Given the description of an element on the screen output the (x, y) to click on. 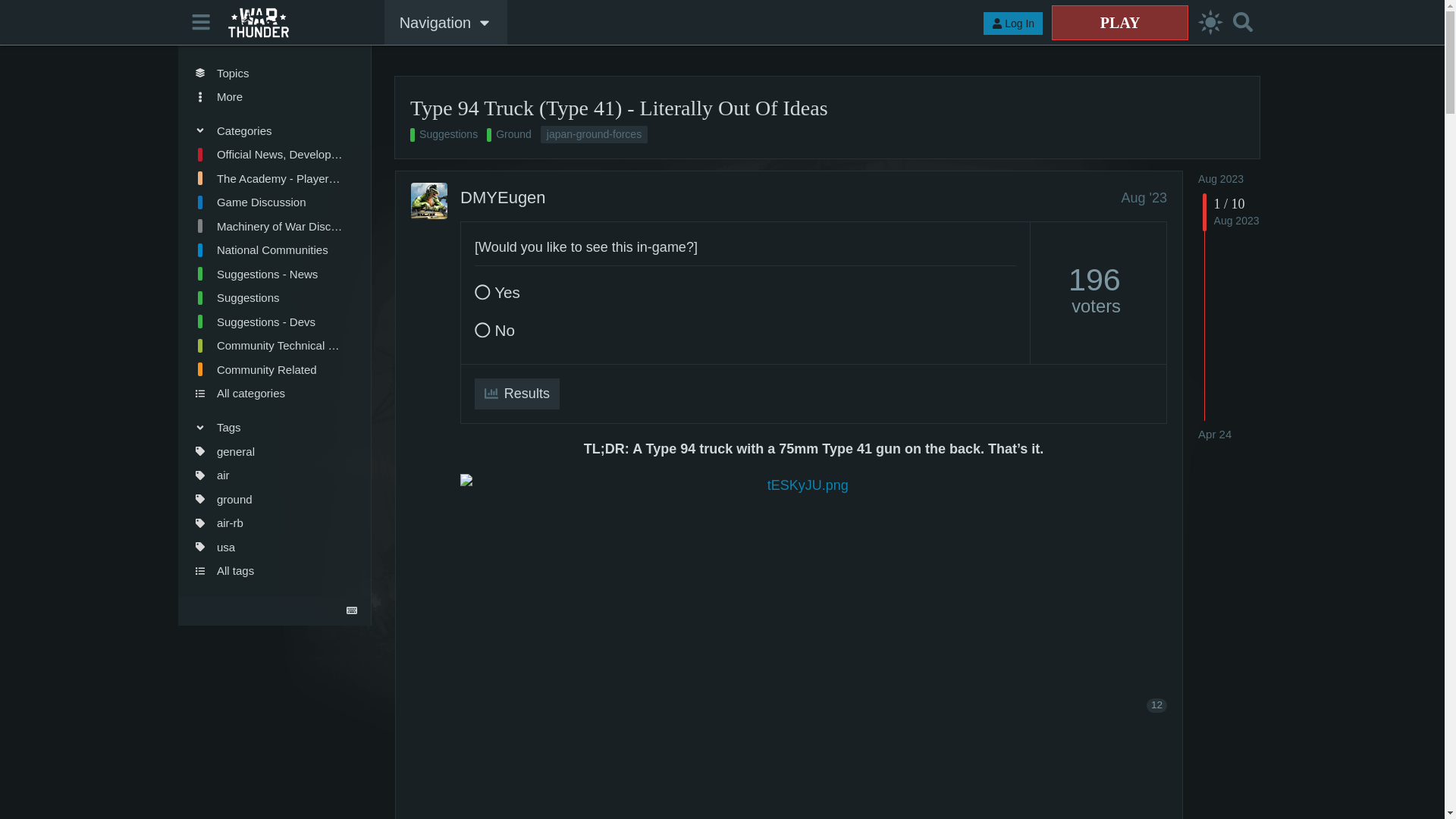
Machinery of War Discussion (268, 225)
Log In (1013, 23)
Official News, Development Blogs and Updates for War Thunder (268, 154)
usa (268, 546)
Topics (268, 72)
Hide sidebar (201, 21)
Aug '23 (1144, 197)
Toggle section (269, 130)
All tags (268, 570)
National Communities (268, 250)
japan-ground-forces (593, 135)
Community Related (268, 369)
Suggestions - Devs (268, 322)
A place where you can discuss in your native language. (268, 250)
Suggestions (443, 134)
